Given the description of an element on the screen output the (x, y) to click on. 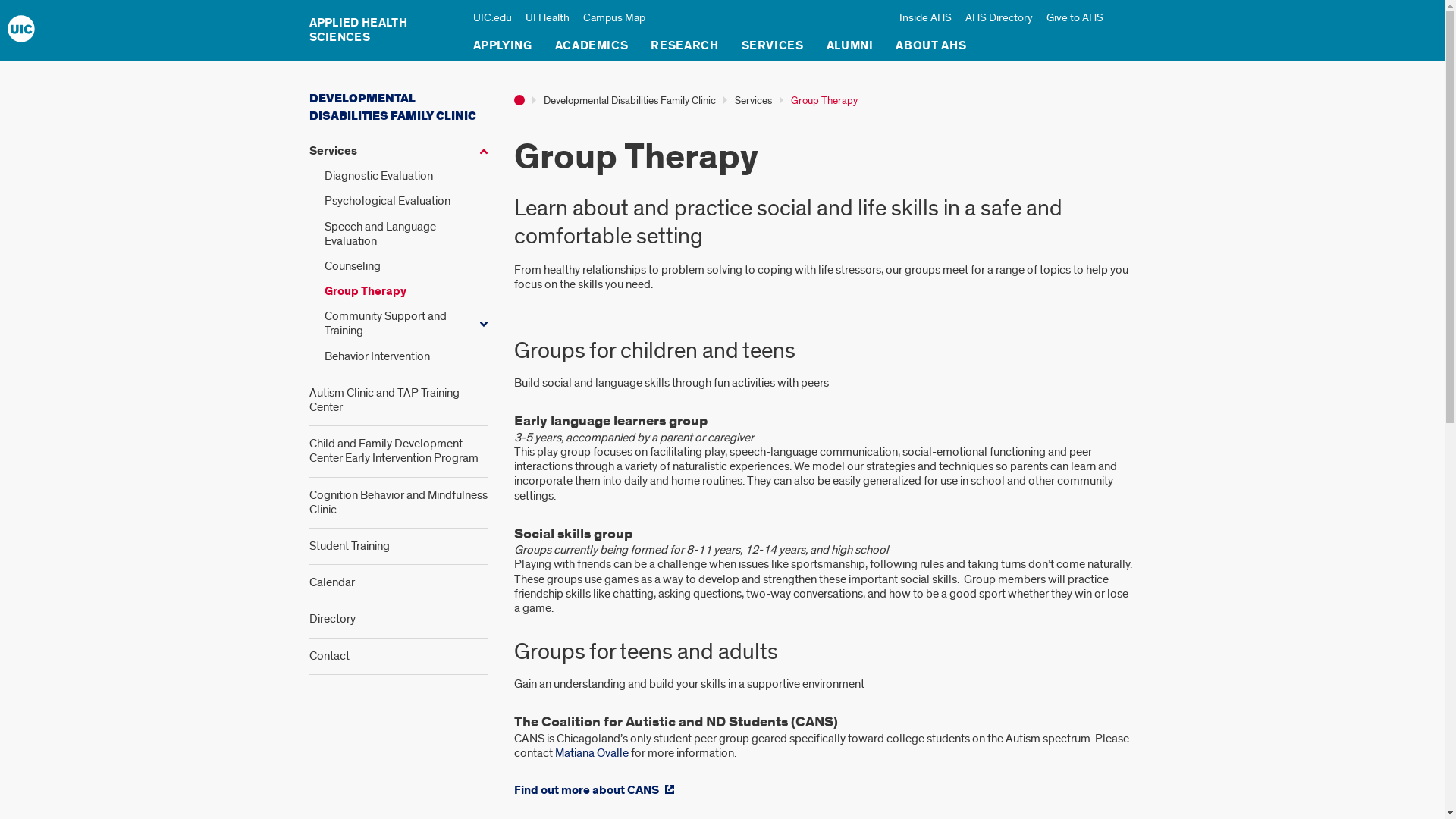
SERVICES (772, 49)
APPLYING (502, 49)
the main menu (203, 14)
the content of this page (103, 14)
UIC Logo (20, 28)
APPLIED HEALTH SCIENCES (383, 30)
RESEARCH (683, 49)
Google Translate (392, 14)
UIC Logo (20, 28)
the secondary menu (294, 14)
